Given the description of an element on the screen output the (x, y) to click on. 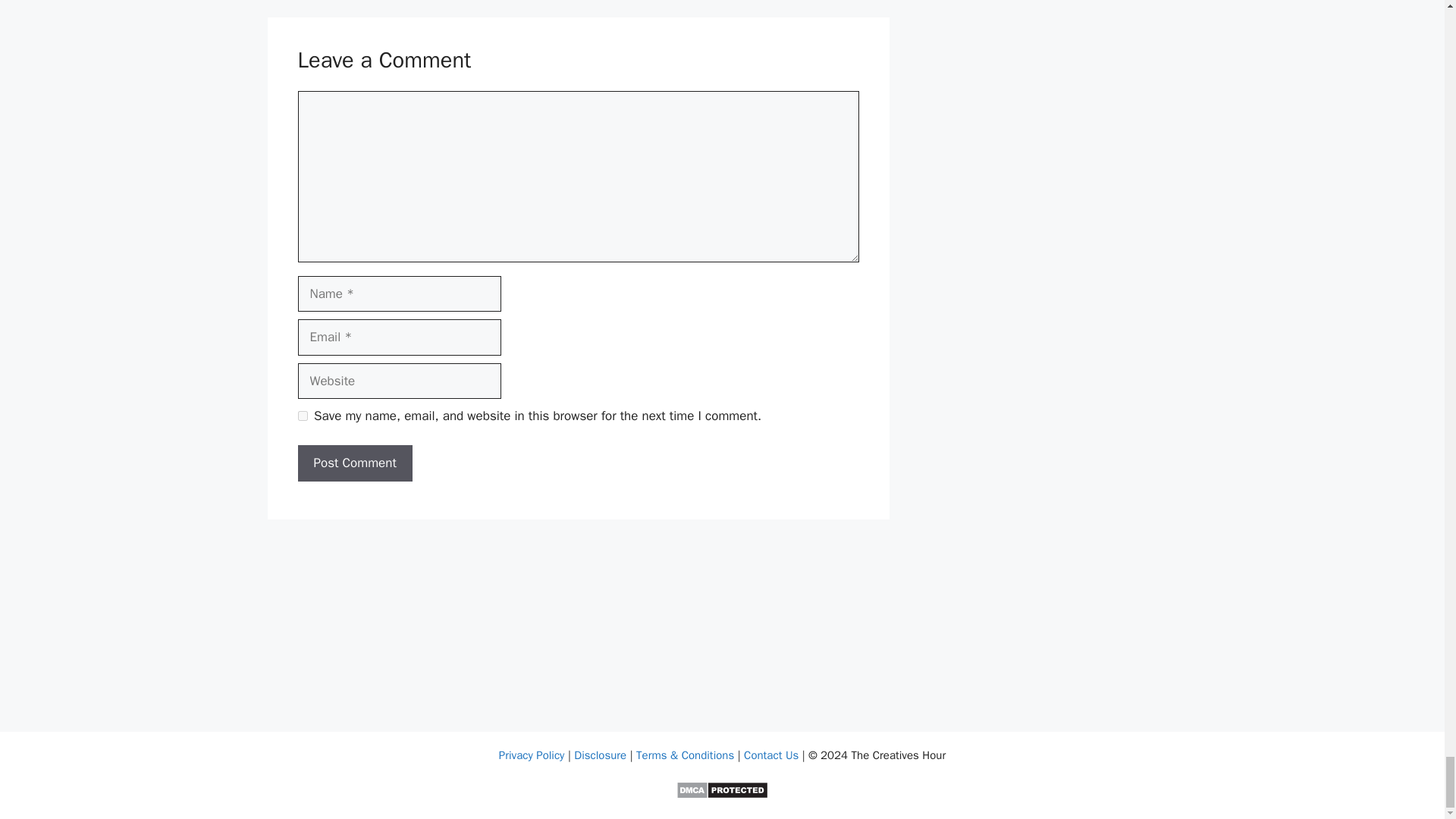
Post Comment (354, 463)
DMCA.com Protection Status (722, 795)
yes (302, 415)
